Given the description of an element on the screen output the (x, y) to click on. 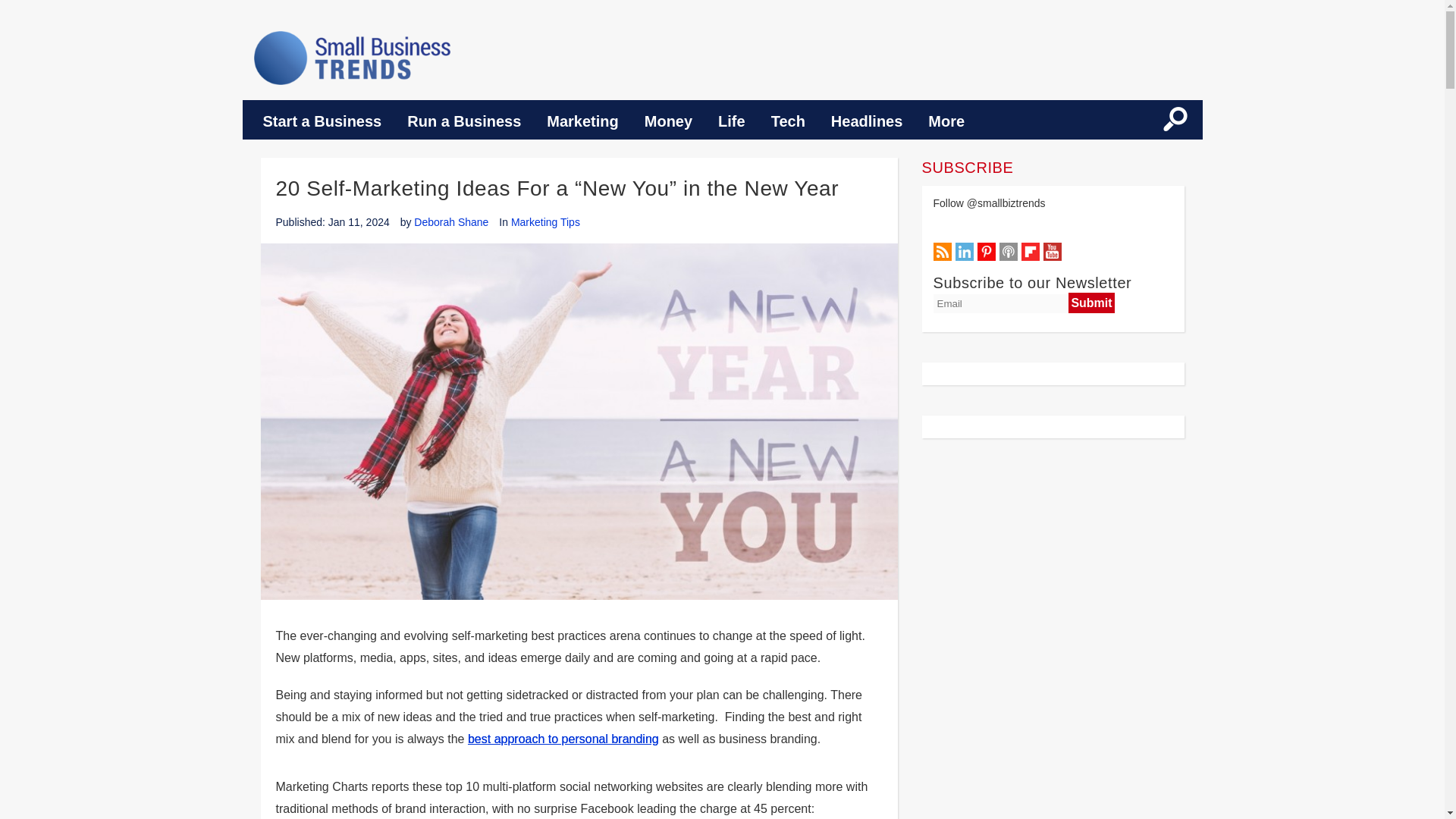
Headlines (866, 121)
Start a Business (322, 121)
View all articles in Marketing Tips (545, 222)
Tech (788, 121)
Marketing (582, 121)
Run a Business (464, 121)
Life (731, 121)
Small Business Trends (351, 58)
Money (667, 121)
Small Business Trends (351, 58)
Posts by Deborah Shane (450, 222)
